Given the description of an element on the screen output the (x, y) to click on. 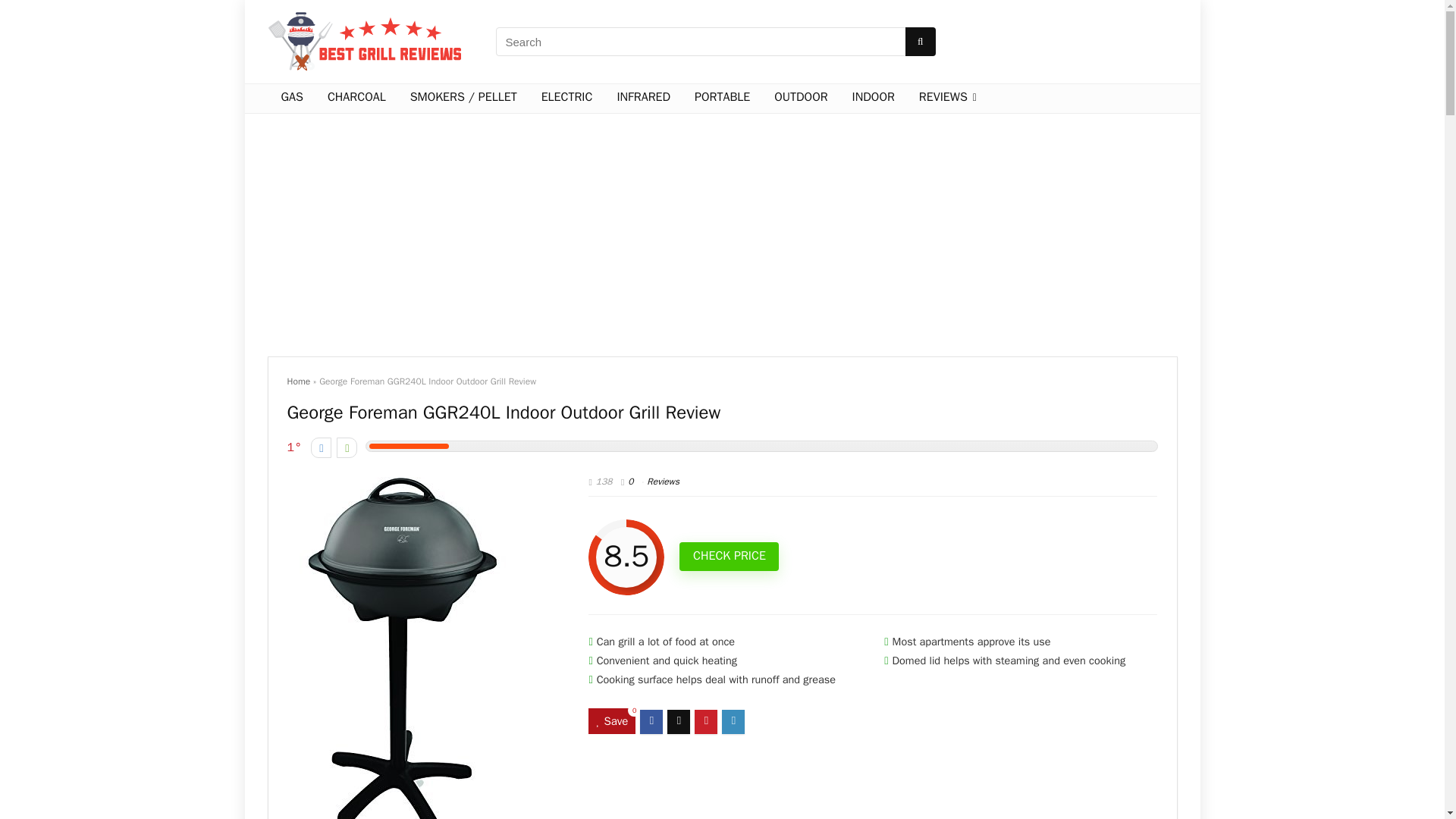
View all posts in Reviews (662, 481)
INDOOR (871, 98)
OUTDOOR (798, 98)
GAS (289, 98)
Vote up (346, 447)
CHARCOAL (355, 98)
INFRARED (640, 98)
REVIEWS (946, 98)
CHECK PRICE (728, 556)
